Given the description of an element on the screen output the (x, y) to click on. 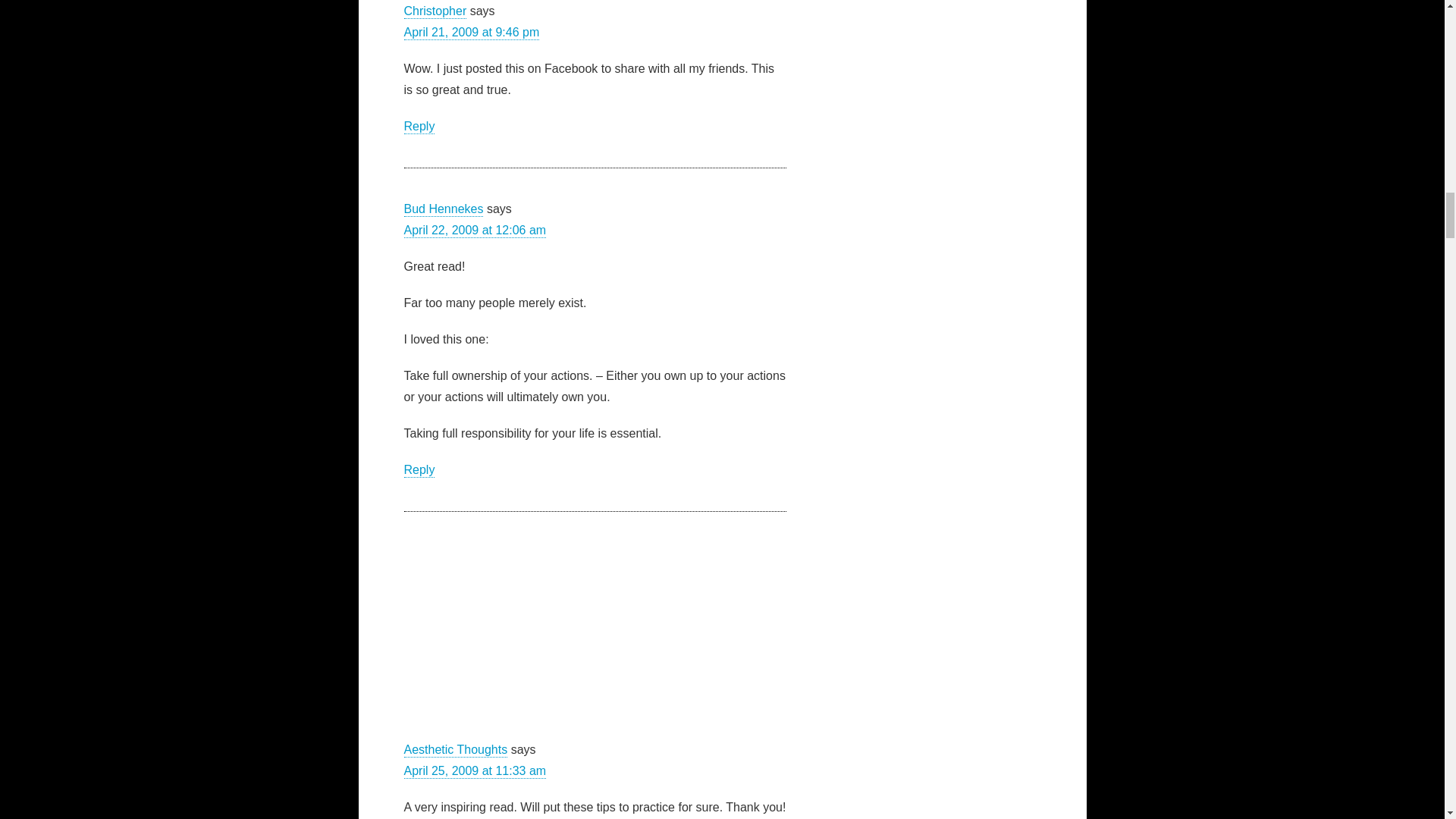
April 21, 2009 at 9:46 pm (470, 32)
April 25, 2009 at 11:33 am (474, 771)
Christopher (434, 11)
April 22, 2009 at 12:06 am (474, 229)
Bud Hennekes (443, 208)
Reply (418, 126)
Reply (418, 469)
Aesthetic Thoughts (454, 749)
